Given the description of an element on the screen output the (x, y) to click on. 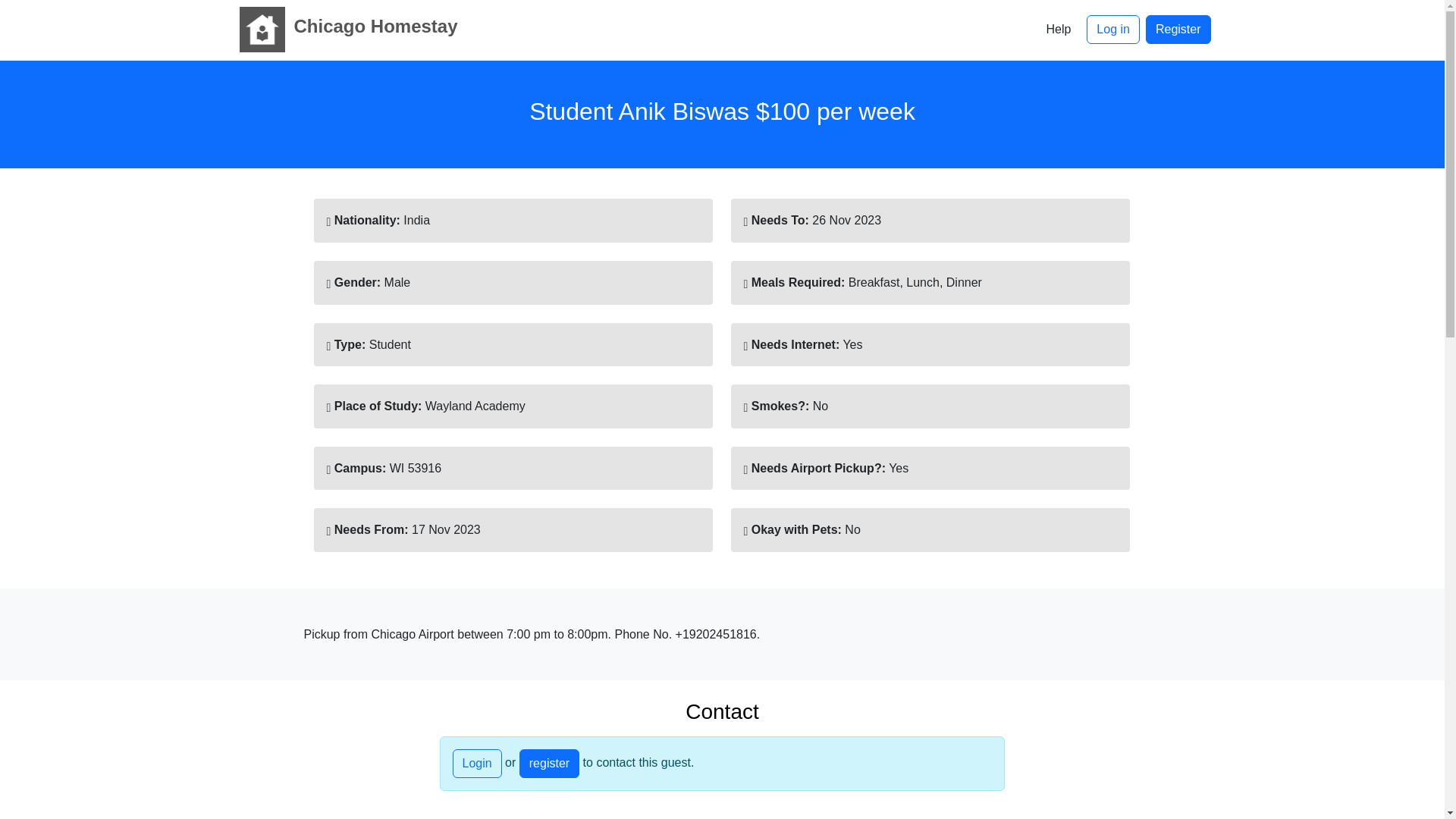
Chicago Homestay (344, 29)
Log in (1113, 29)
Login (475, 763)
Register (1178, 29)
register (549, 763)
Help (1057, 29)
